Given the description of an element on the screen output the (x, y) to click on. 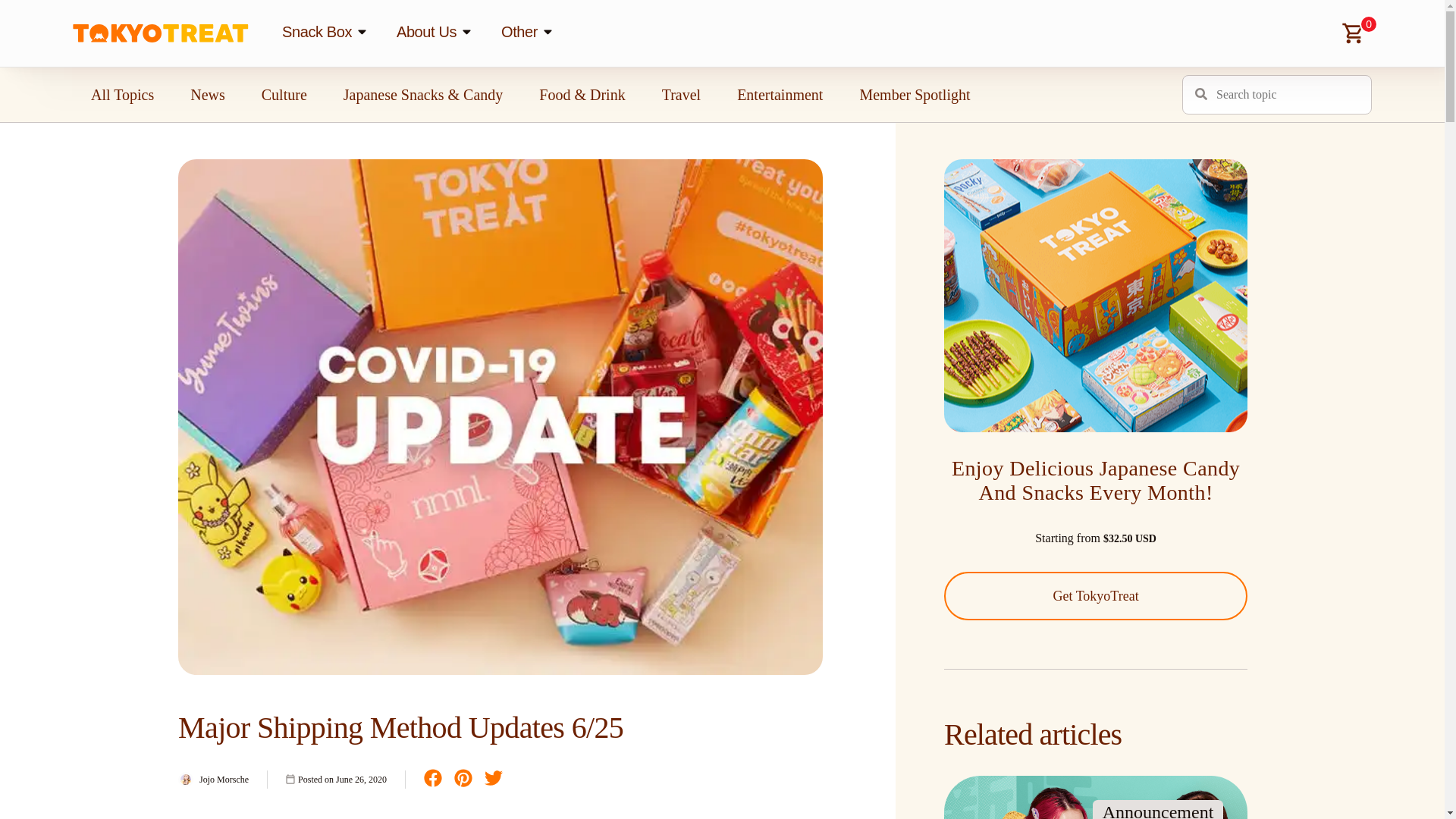
News (207, 95)
All Topics (121, 95)
